Given the description of an element on the screen output the (x, y) to click on. 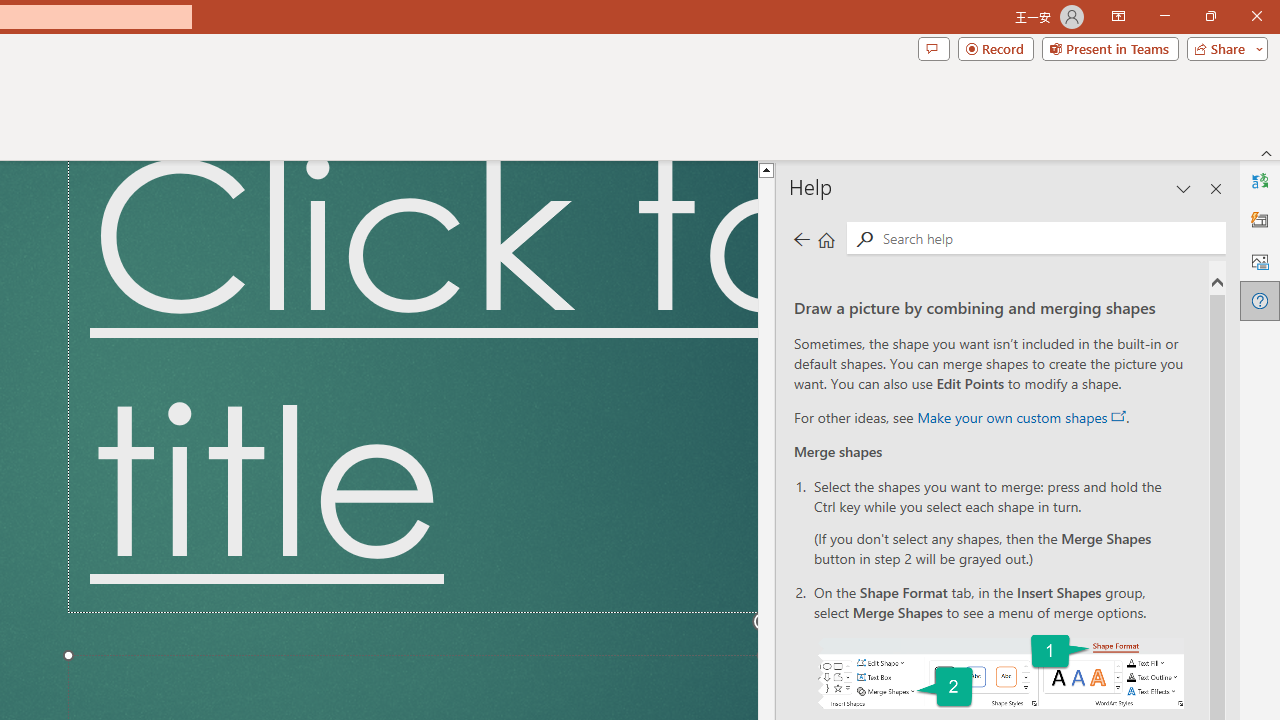
On the Shape Format tab, select Merge Shapes. (1000, 671)
